Given the description of an element on the screen output the (x, y) to click on. 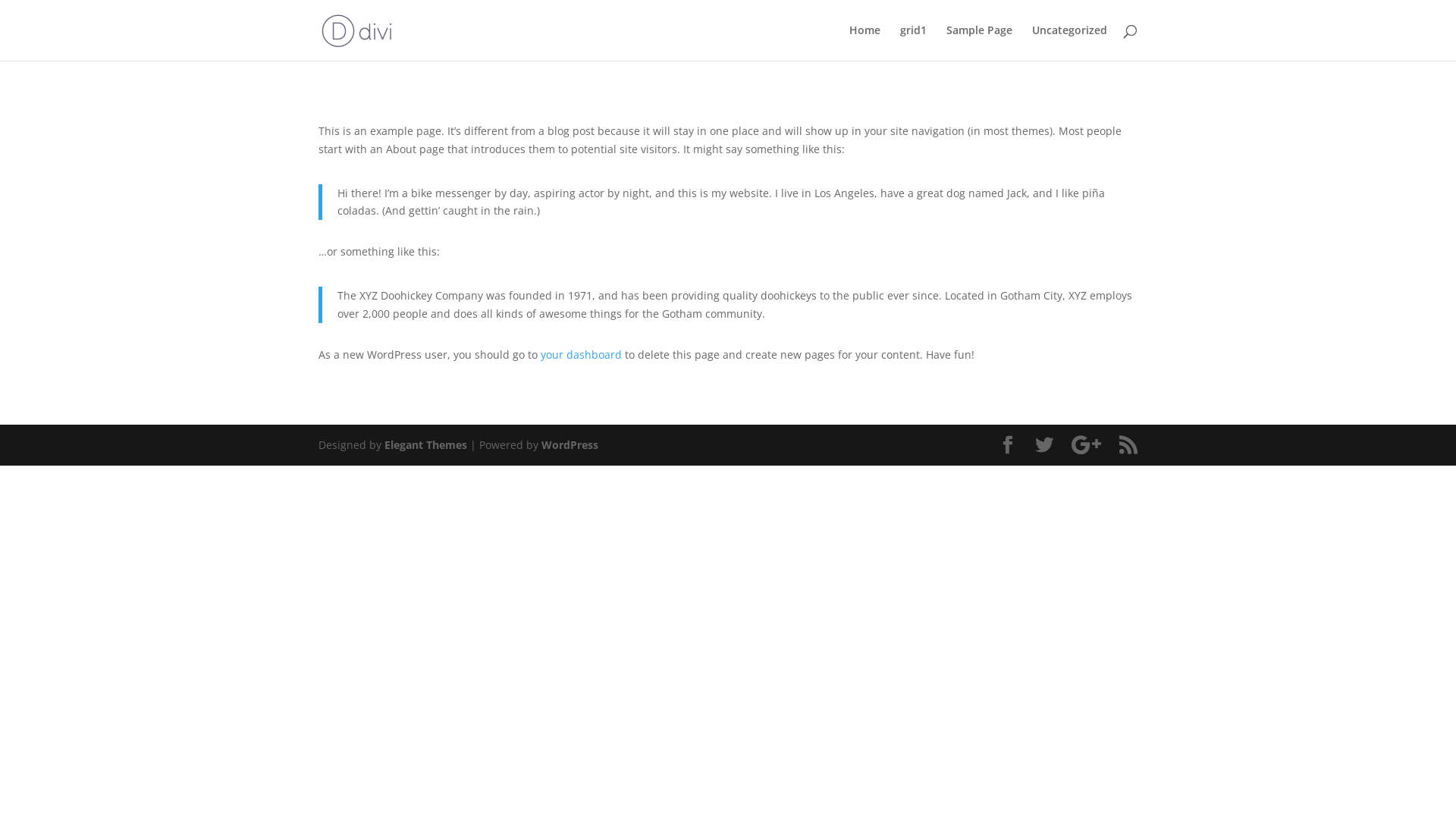
grid1 Element type: text (913, 42)
Elegant Themes Element type: text (425, 444)
Home Element type: text (864, 42)
Sample Page Element type: text (979, 42)
Uncategorized Element type: text (1069, 42)
your dashboard Element type: text (580, 354)
WordPress Element type: text (569, 444)
